Given the description of an element on the screen output the (x, y) to click on. 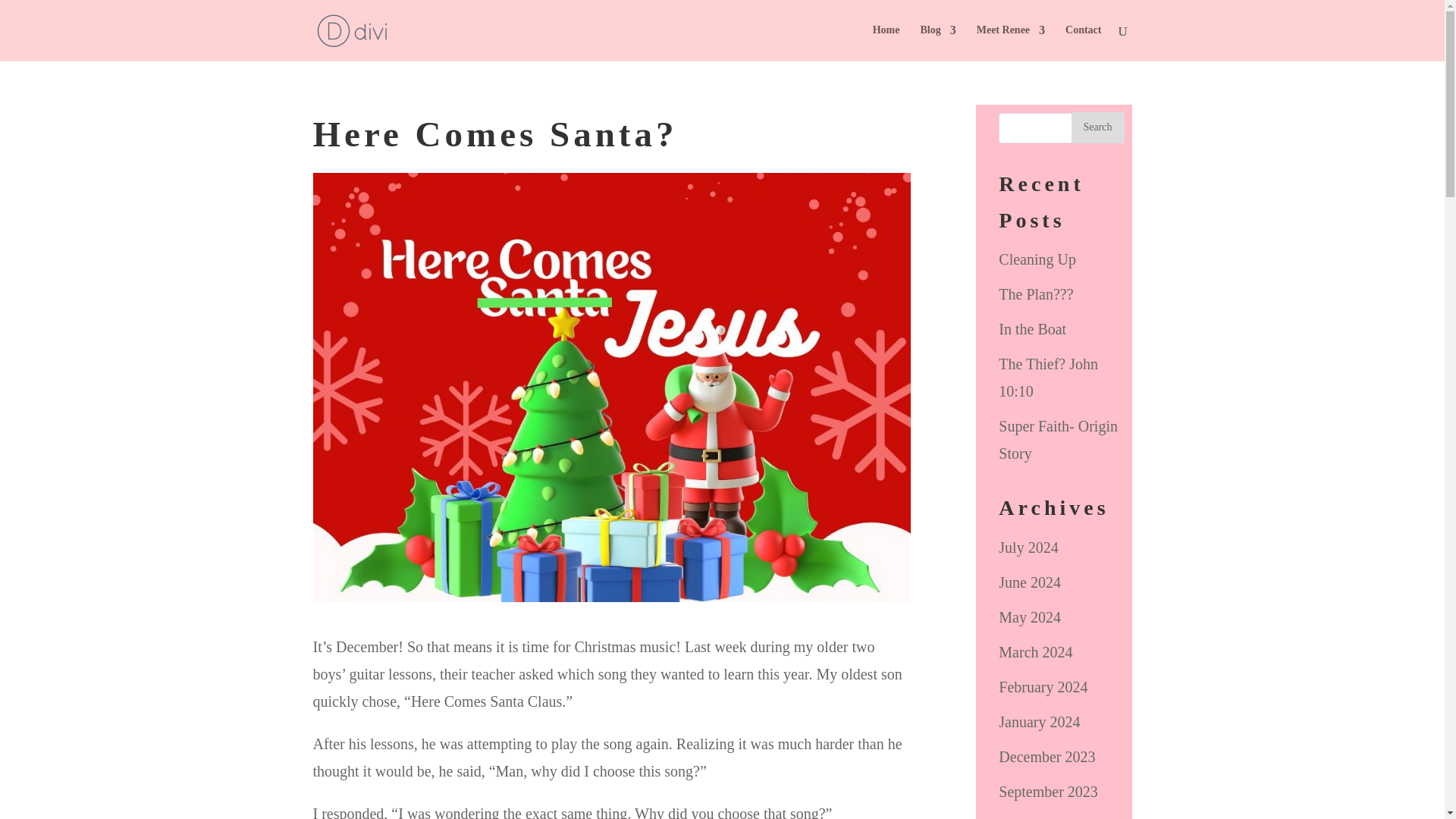
December 2023 (1046, 756)
May 2023 (1029, 818)
Super Faith- Origin Story (1058, 439)
June 2024 (1029, 582)
Blog (937, 42)
September 2023 (1047, 791)
The Thief? John 10:10 (1047, 377)
February 2024 (1042, 686)
Contact (1082, 42)
In the Boat (1031, 329)
